Given the description of an element on the screen output the (x, y) to click on. 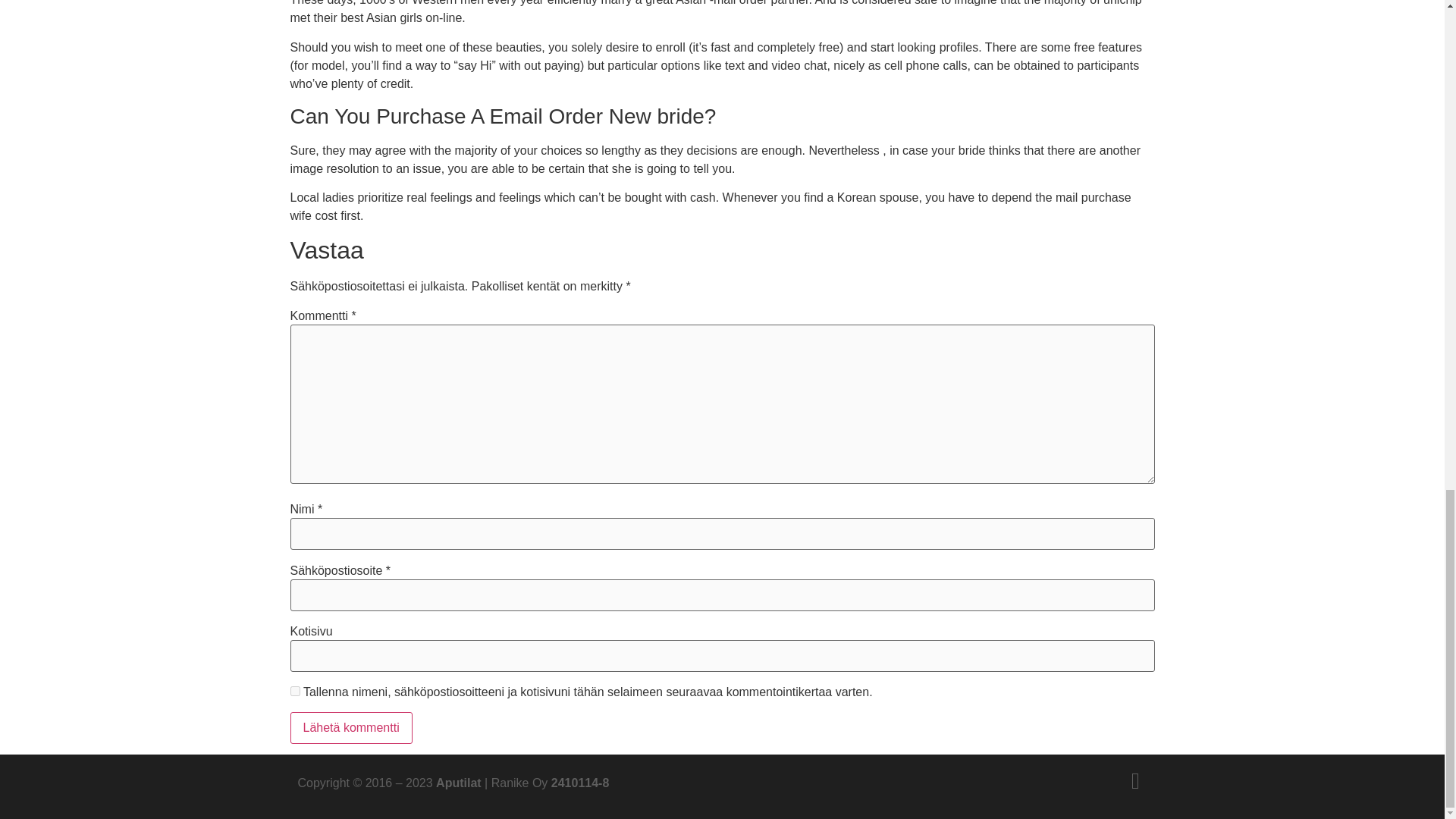
Aputilat (458, 782)
2410114-8 (580, 782)
yes (294, 691)
